Given the description of an element on the screen output the (x, y) to click on. 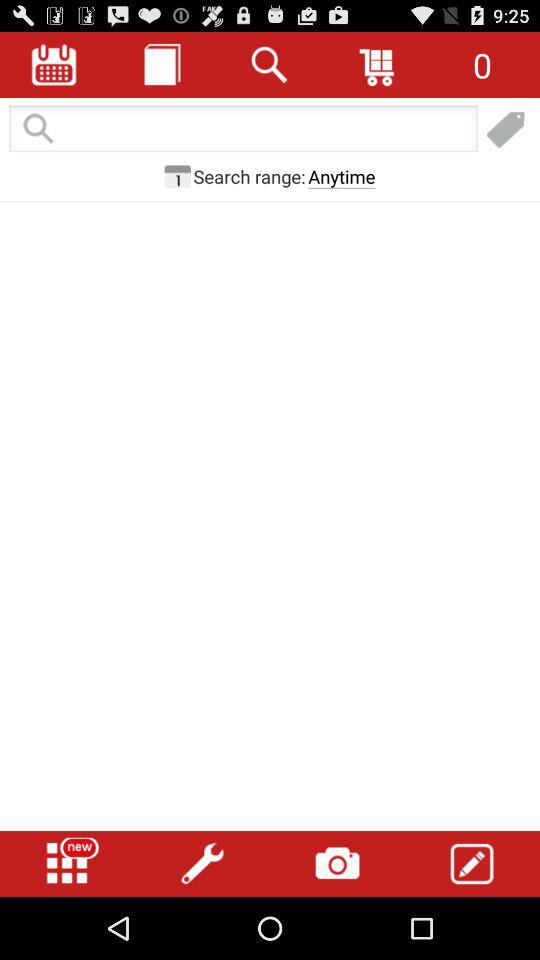
select item at the center (270, 464)
